Given the description of an element on the screen output the (x, y) to click on. 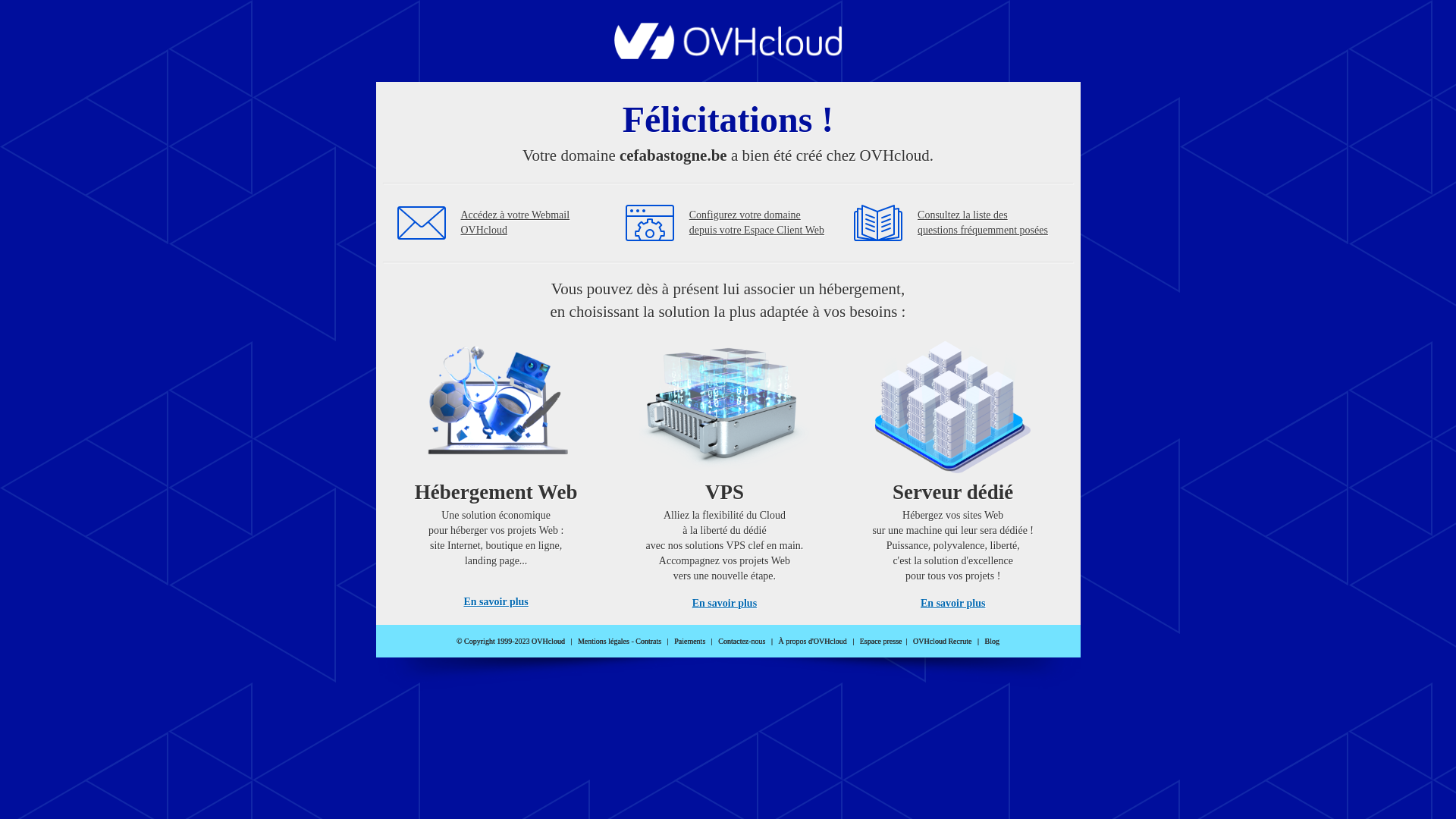
En savoir plus Element type: text (724, 602)
En savoir plus Element type: text (952, 602)
Paiements Element type: text (689, 641)
Blog Element type: text (992, 641)
Espace presse Element type: text (880, 641)
En savoir plus Element type: text (495, 601)
Configurez votre domaine
depuis votre Espace Client Web Element type: text (756, 222)
Contactez-nous Element type: text (741, 641)
OVHcloud Recrute Element type: text (942, 641)
OVHcloud Element type: hover (727, 54)
VPS Element type: hover (724, 469)
